Given the description of an element on the screen output the (x, y) to click on. 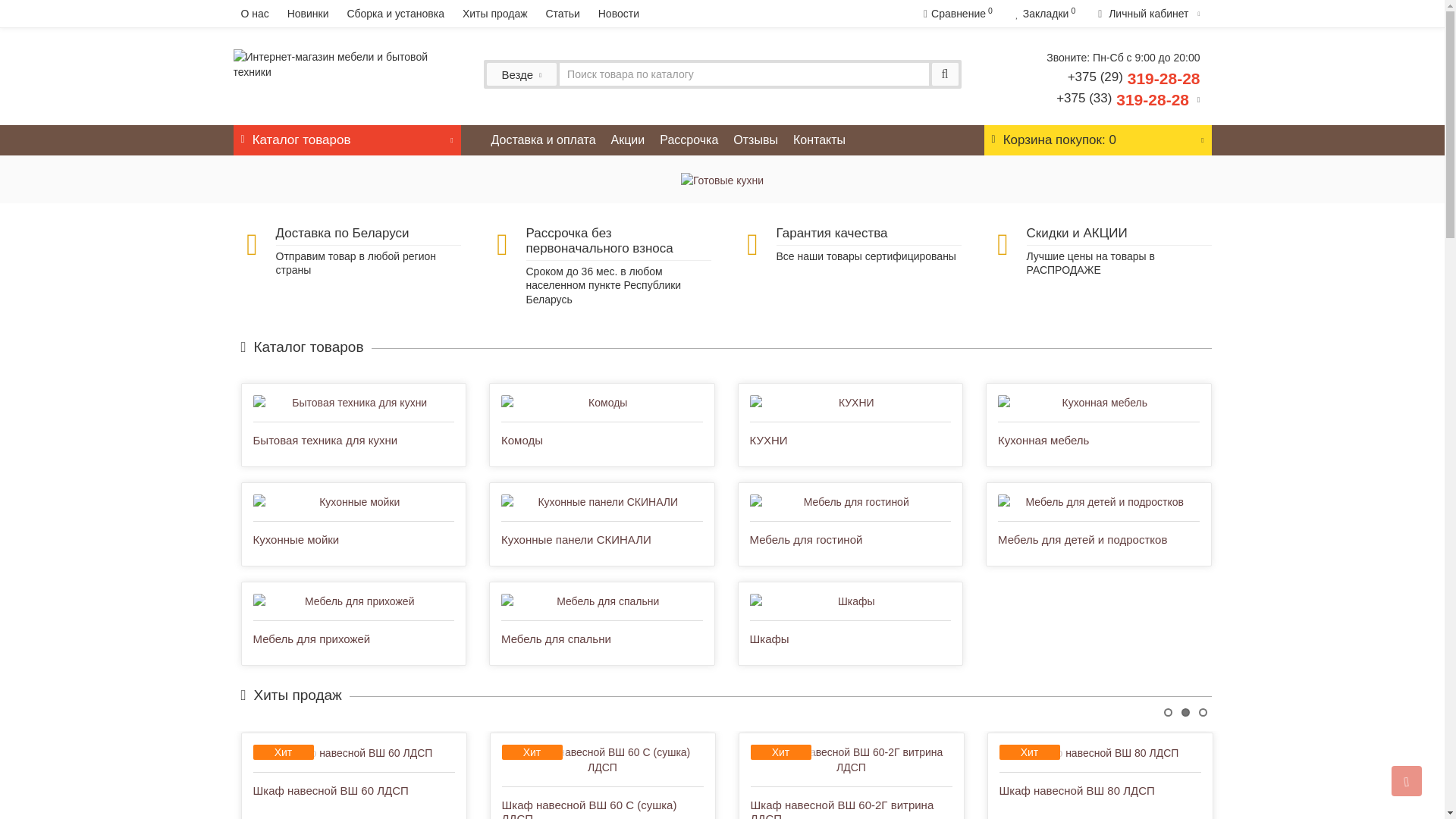
+375 (29) 319-28-28
+375 (33) 319-28-28 Element type: text (1127, 87)
